Given the description of an element on the screen output the (x, y) to click on. 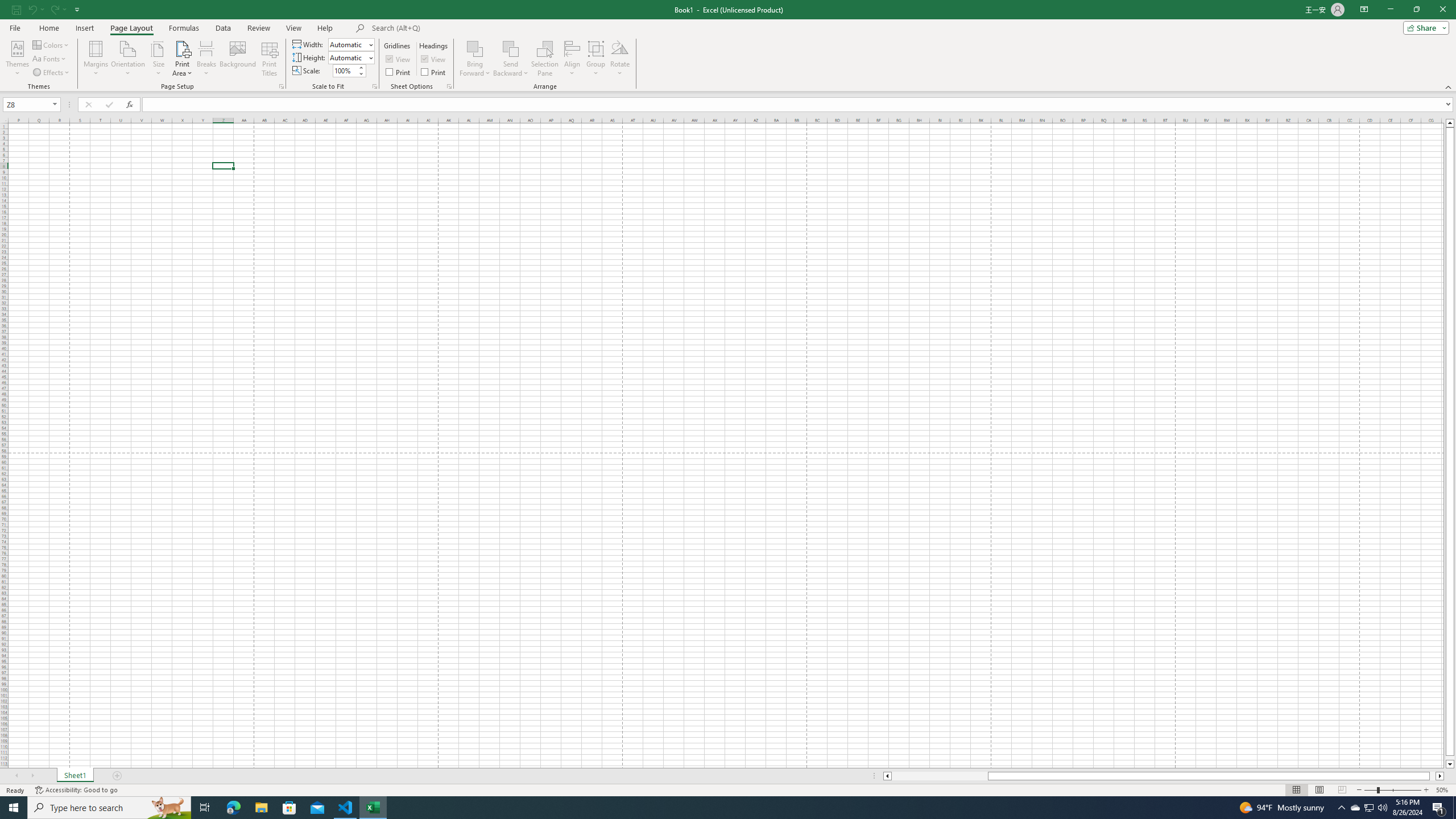
Height (350, 56)
Home (48, 28)
Add Sheet (117, 775)
Share (1423, 27)
Scroll Right (32, 775)
Page right (1432, 775)
Page down (1449, 757)
Help (325, 28)
Send Backward (510, 58)
Size (158, 58)
Page Setup (374, 85)
Line down (1449, 764)
Sheet Options (449, 85)
Margins (95, 58)
